Given the description of an element on the screen output the (x, y) to click on. 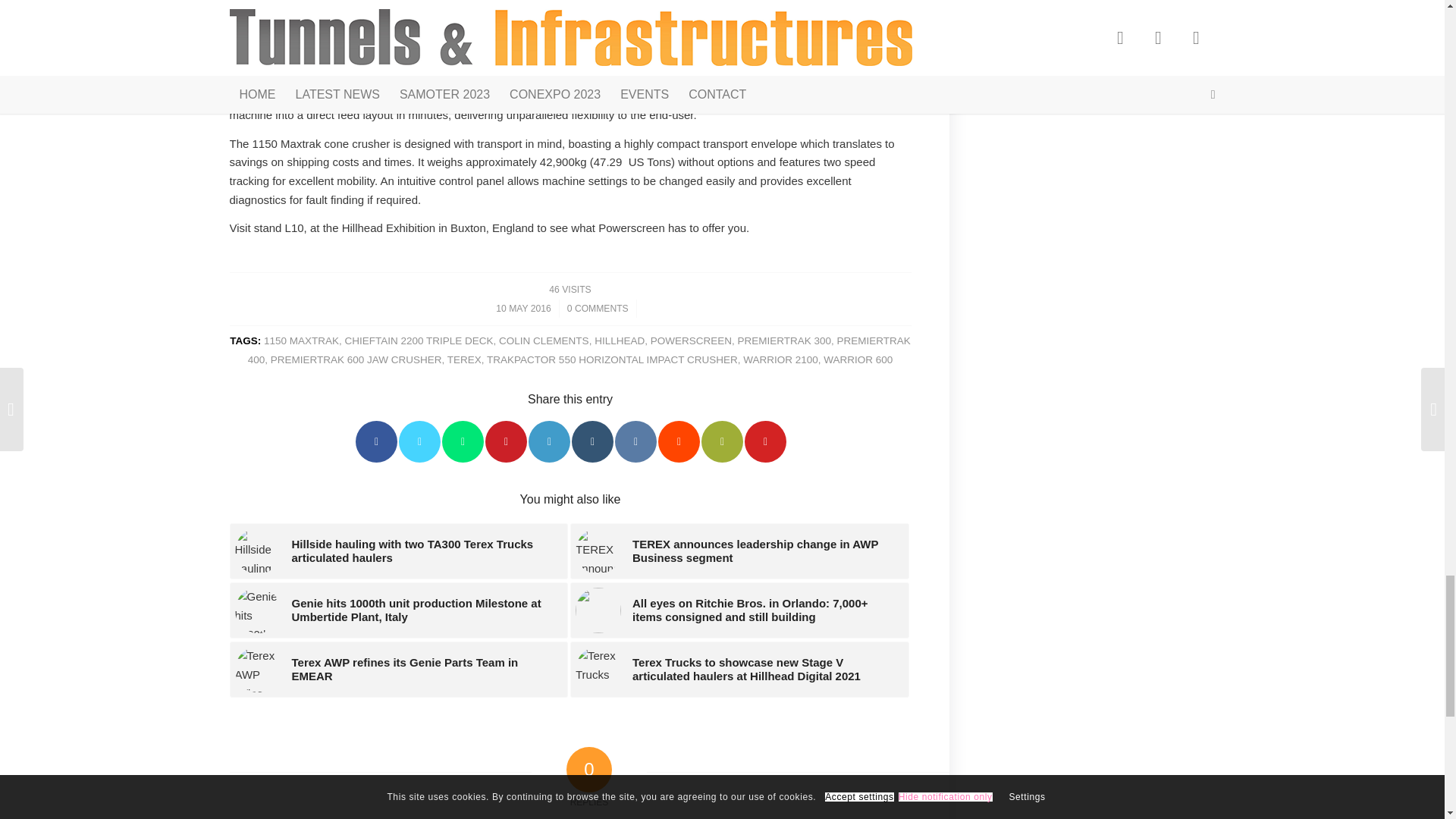
WARRIOR 2100 (780, 359)
1150 MAXTRAK (301, 340)
0 COMMENTS (597, 308)
COLIN CLEMENTS (544, 340)
CHIEFTAIN 2200 TRIPLE DECK (419, 340)
POWERSCREEN (691, 340)
PREMIERTRAK 300 (783, 340)
TEREX (463, 359)
WARRIOR 600 (858, 359)
PREMIERTRAK 600 JAW CRUSHER (356, 359)
PREMIERTRAK 400 (579, 349)
HILLHEAD (619, 340)
TRAKPACTOR 550 HORIZONTAL IMPACT CRUSHER (612, 359)
